Given the description of an element on the screen output the (x, y) to click on. 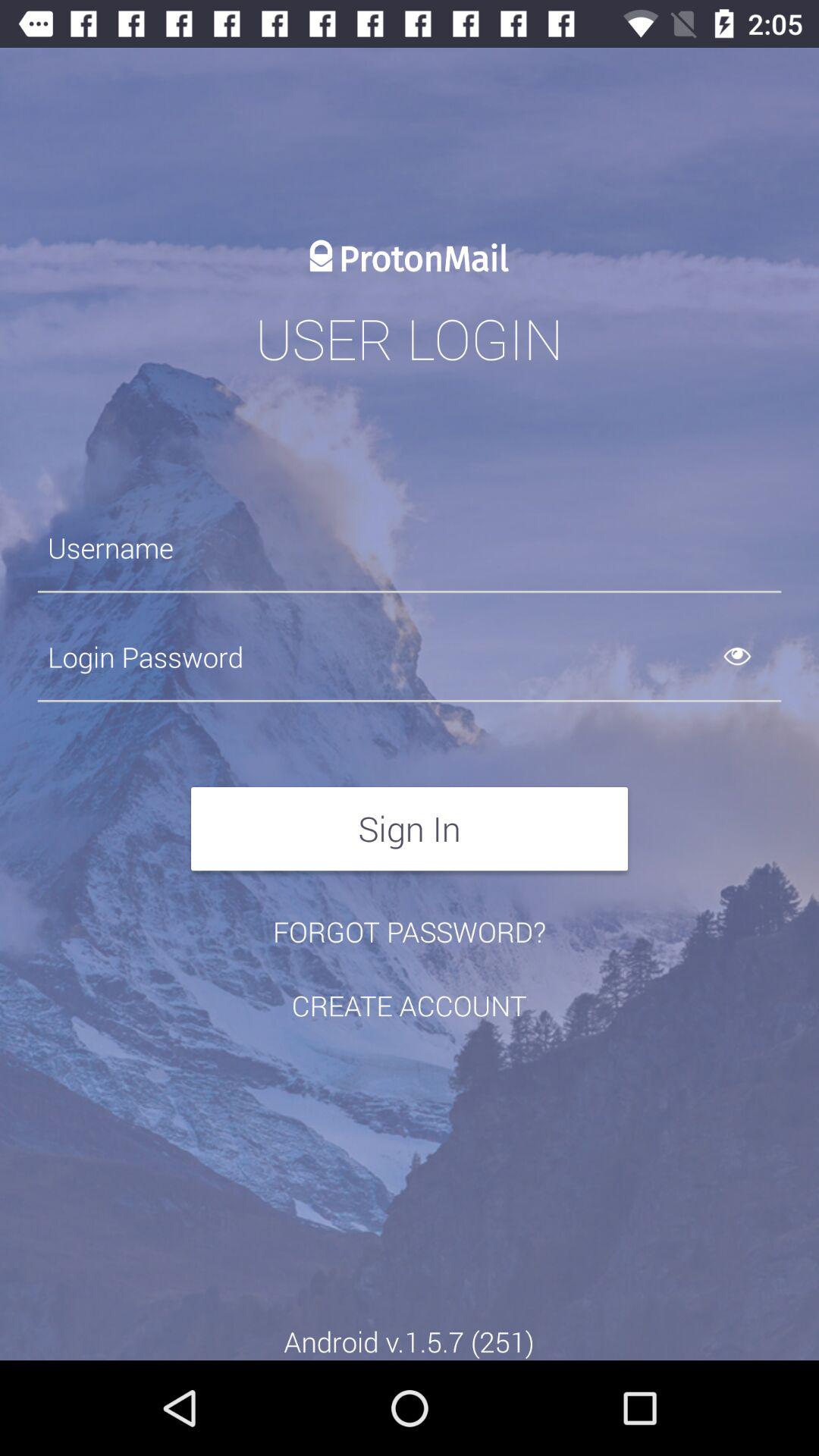
turn on item on the right (755, 656)
